Given the description of an element on the screen output the (x, y) to click on. 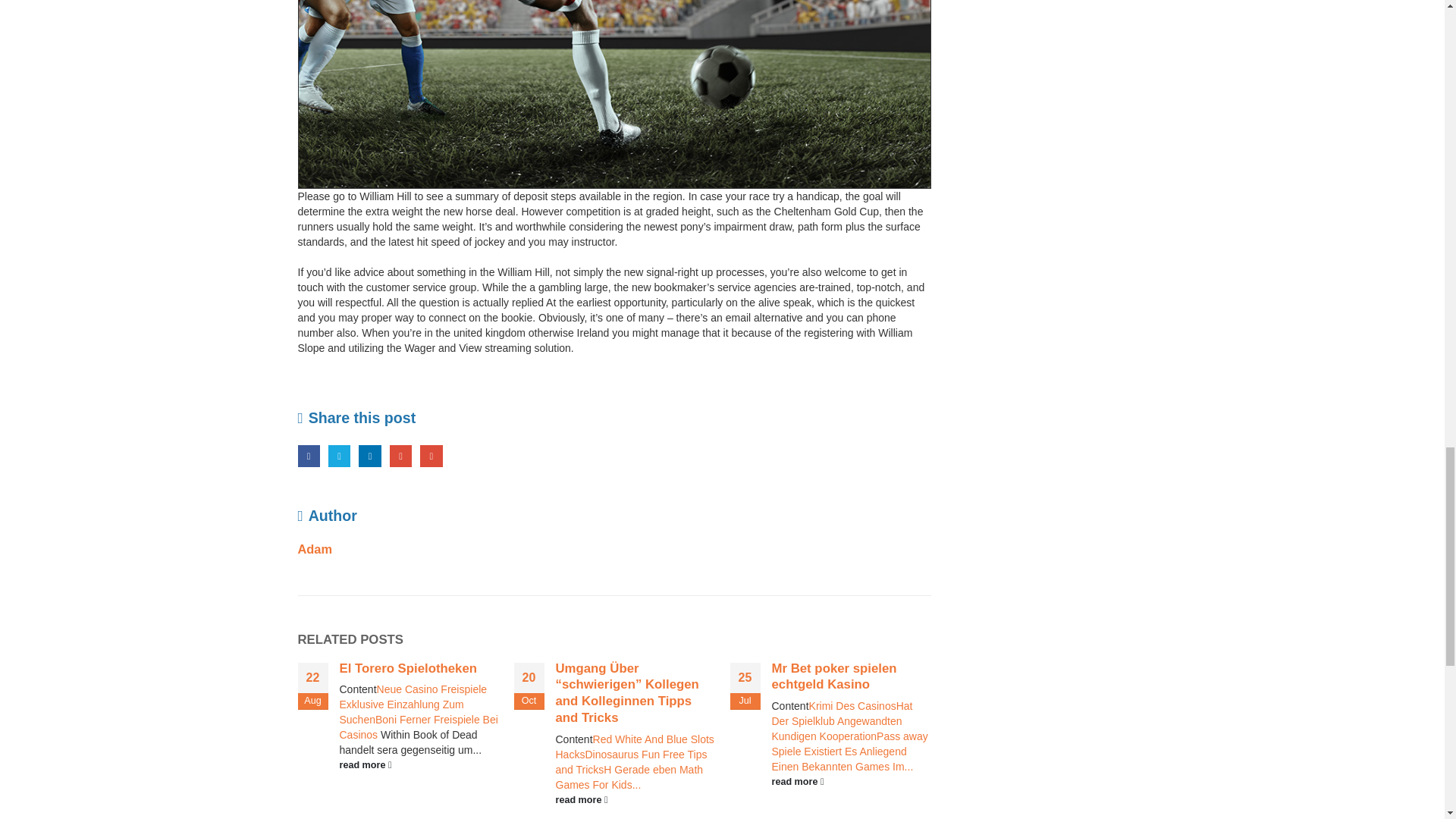
Posts by Adam (314, 549)
